Given the description of an element on the screen output the (x, y) to click on. 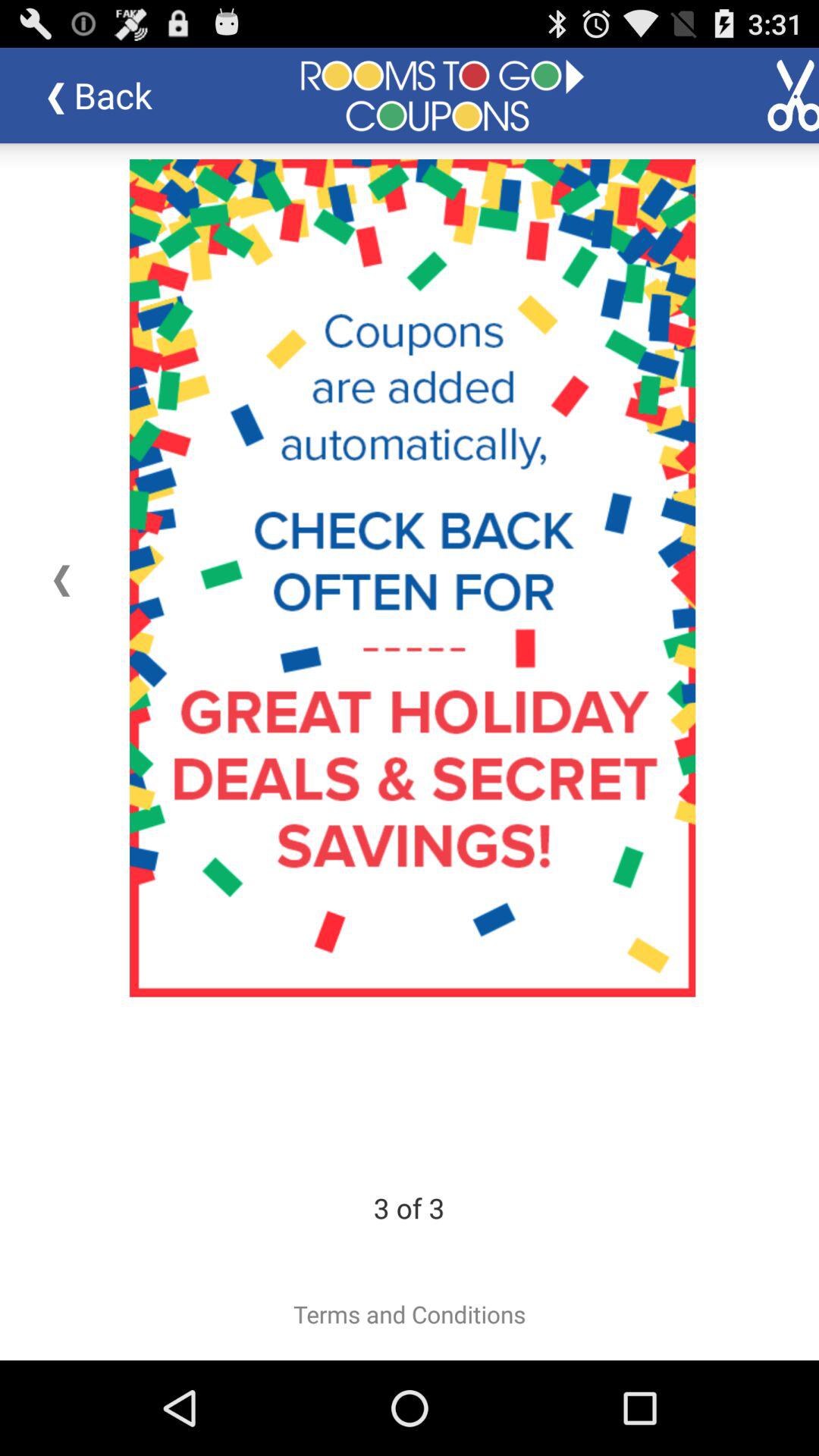
press app below the 3 of 3 icon (409, 1313)
